Given the description of an element on the screen output the (x, y) to click on. 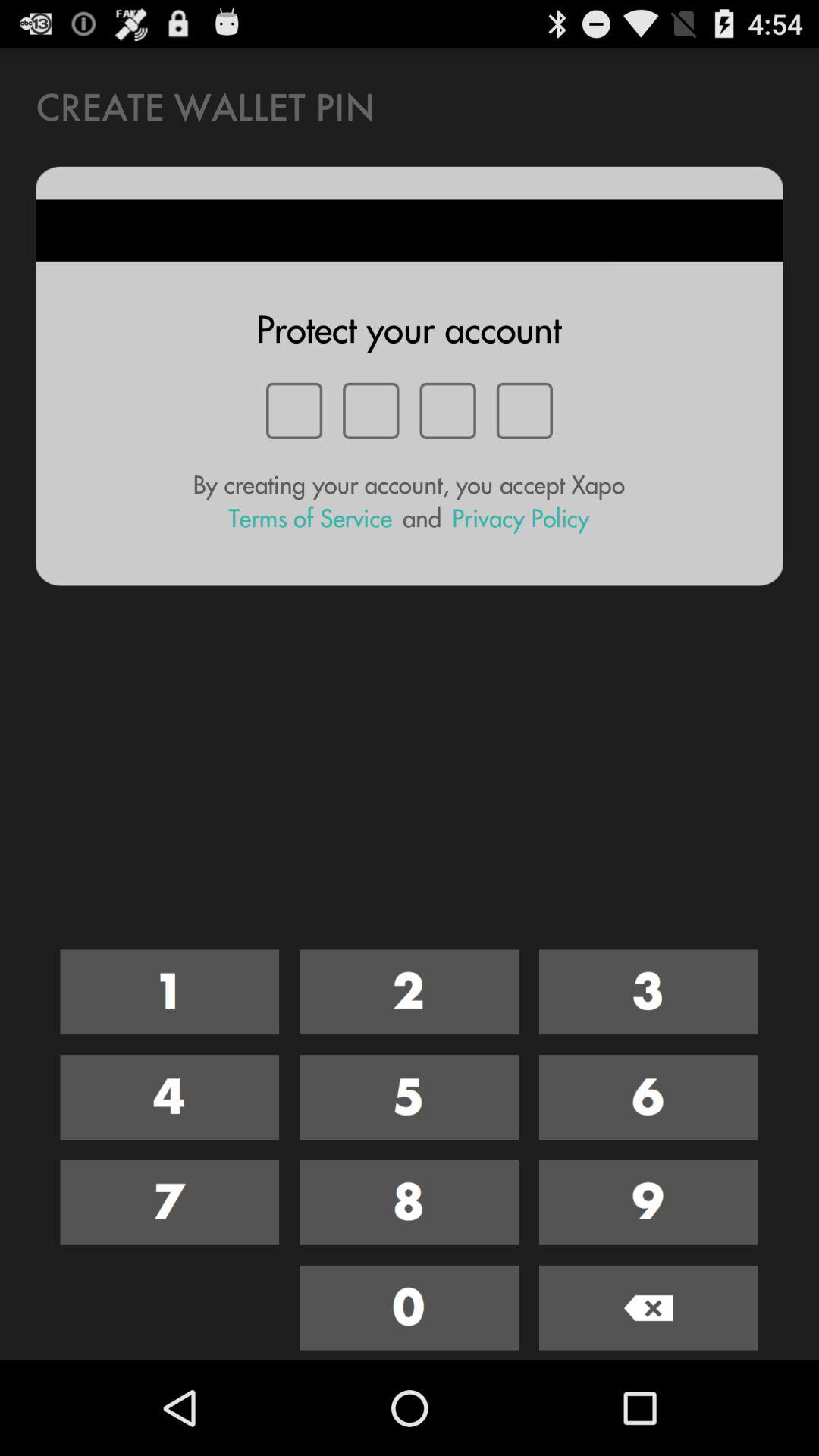
one (169, 991)
